Given the description of an element on the screen output the (x, y) to click on. 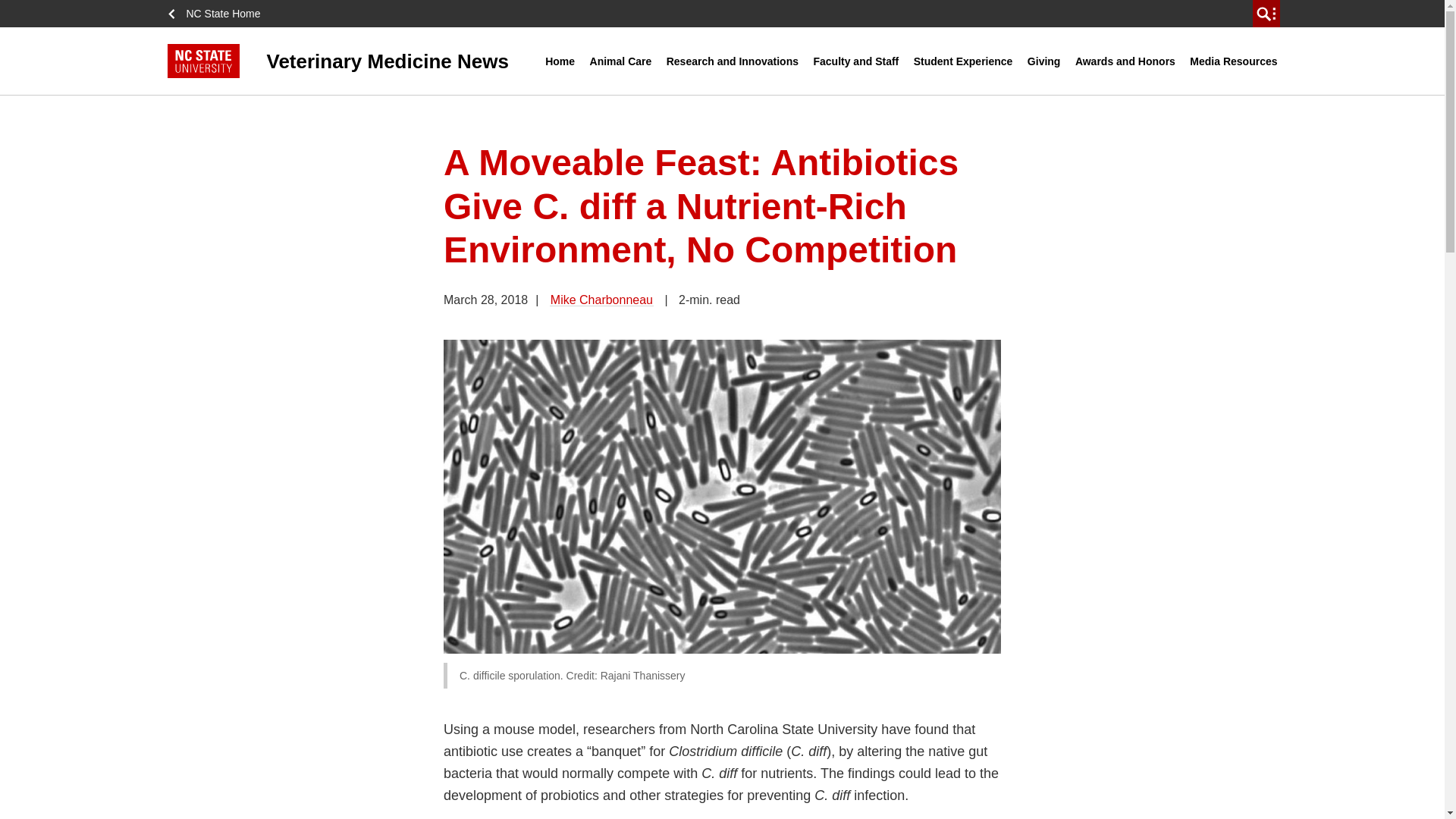
NC State Home (217, 13)
Media Resources (1233, 61)
Giving (1043, 61)
Research and Innovations (732, 61)
Posts by Mike Charbonneau (601, 299)
Home (559, 61)
Awards and Honors (1125, 61)
Veterinary Medicine News (355, 61)
Faculty and Staff (855, 61)
Animal Care (621, 61)
Student Experience (963, 61)
